Given the description of an element on the screen output the (x, y) to click on. 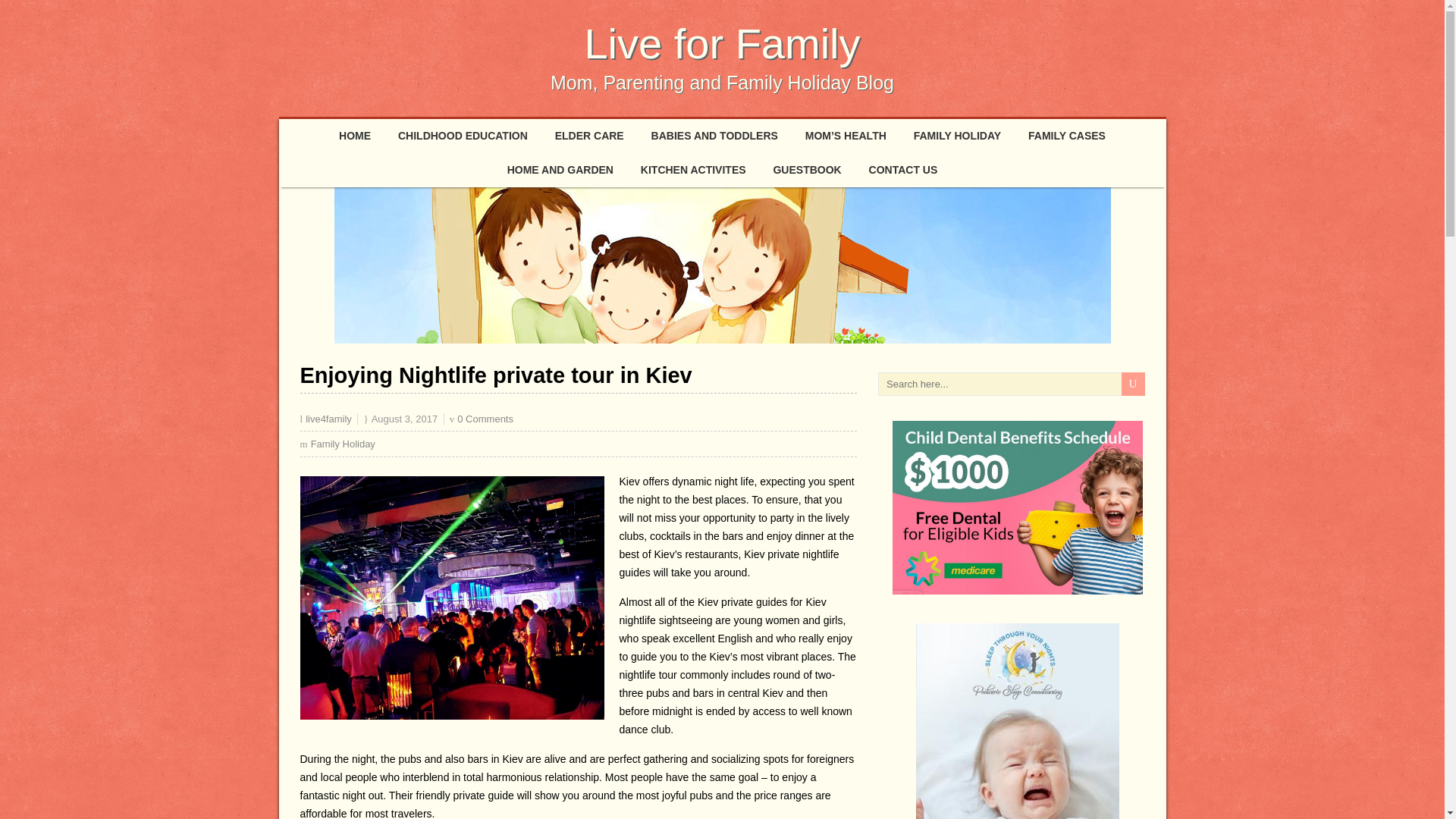
U (1132, 383)
0 Comments (485, 419)
FAMILY HOLIDAY (957, 135)
CHILDHOOD EDUCATION (462, 135)
U (1132, 383)
FAMILY CASES (1067, 135)
KITCHEN ACTIVITES (693, 170)
Posts by live4family (328, 419)
GUESTBOOK (806, 170)
U (1132, 383)
